Given the description of an element on the screen output the (x, y) to click on. 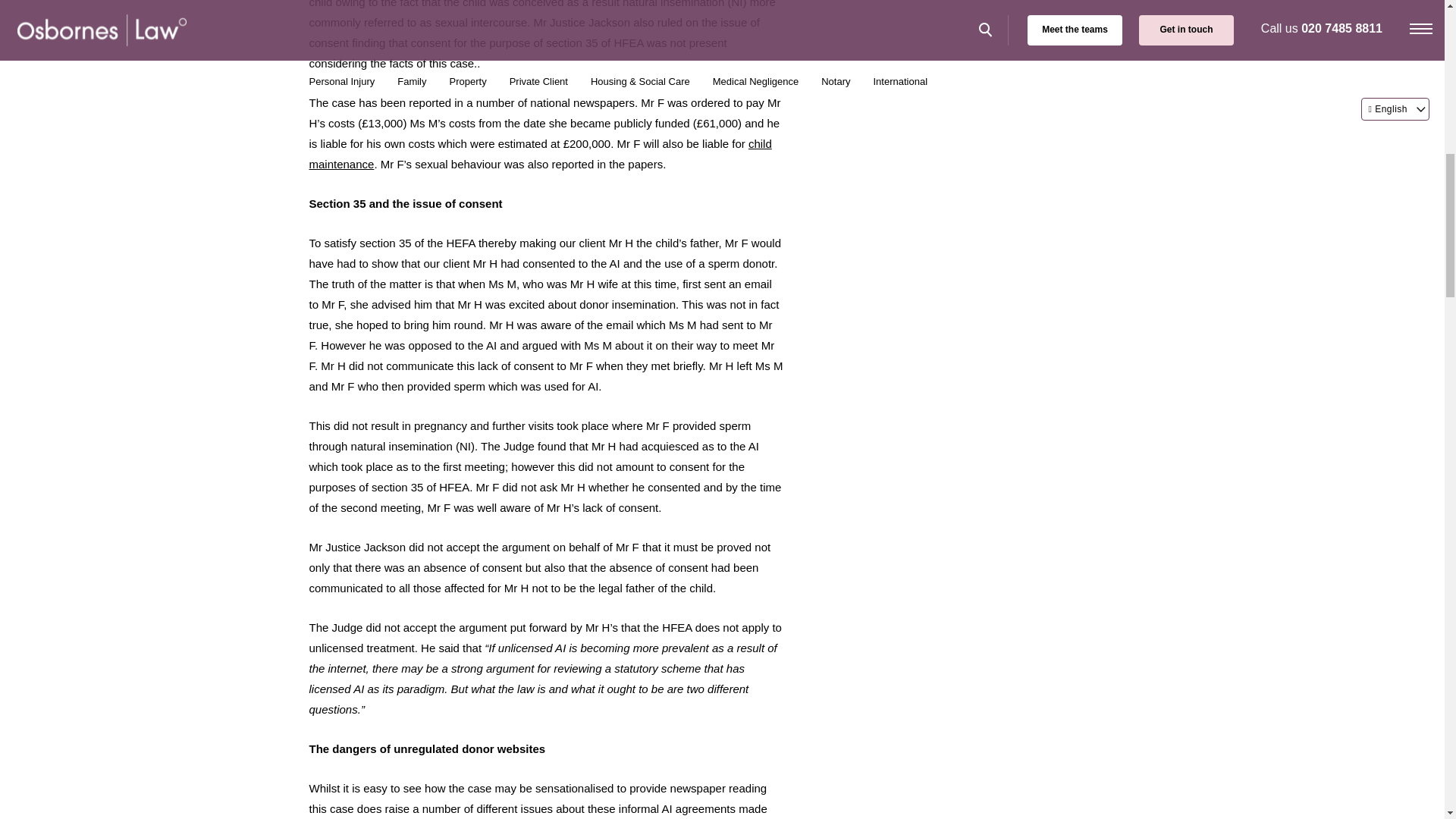
child maintenance (539, 153)
